Given the description of an element on the screen output the (x, y) to click on. 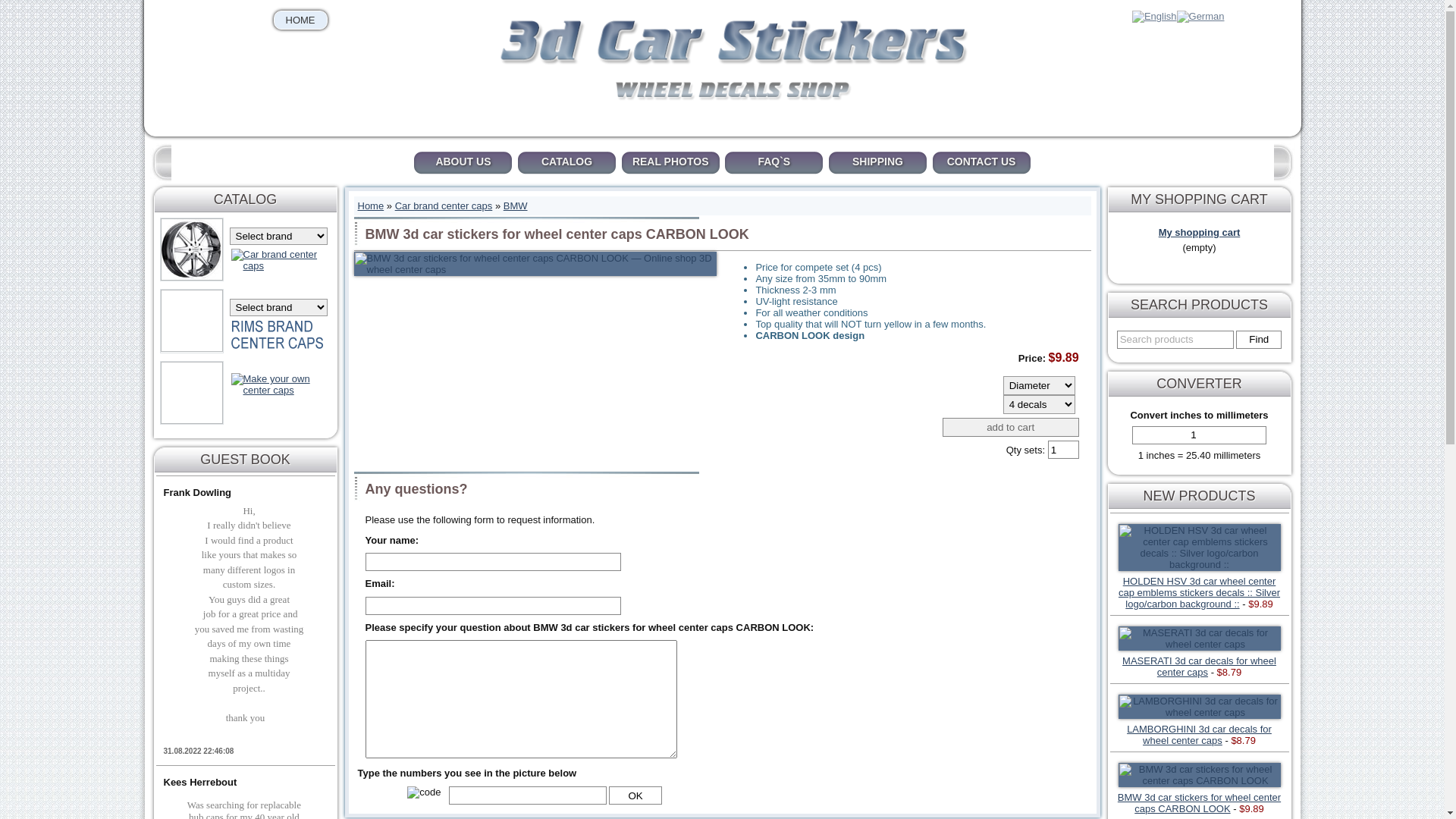
FAQ`S Element type: text (773, 162)
MASERATI 3d car decals for wheel center caps Element type: text (1199, 666)
REAL PHOTOS Element type: text (670, 162)
BMW Element type: text (515, 205)
CATALOG Element type: text (566, 162)
Car brand center caps Element type: text (443, 205)
ABOUT US Element type: text (462, 162)
SHIPPING Element type: text (877, 162)
Search products Element type: hover (1175, 339)
Home Element type: text (370, 205)
CONTACT US Element type: text (981, 162)
OK Element type: text (635, 795)
add to cart Element type: text (1010, 426)
LAMBORGHINI 3d car decals for wheel center caps Element type: text (1198, 734)
My shopping cart Element type: text (1199, 232)
add to cart Element type: hover (1010, 426)
Find Element type: text (1258, 339)
1 Element type: text (1199, 435)
HOME Element type: text (299, 19)
